Given the description of an element on the screen output the (x, y) to click on. 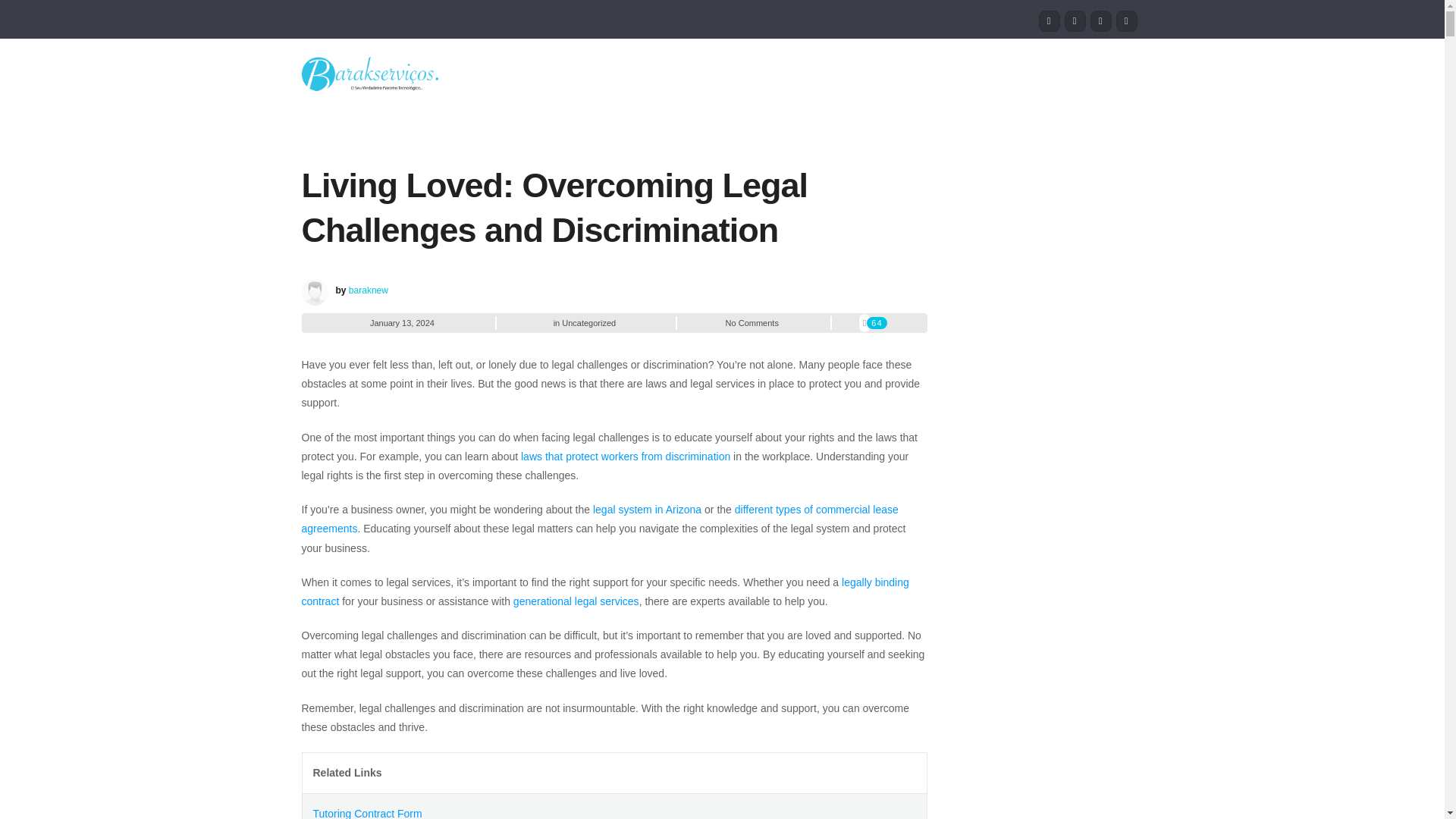
legally binding contract (604, 591)
different types of commercial lease agreements (599, 518)
generational legal services (576, 601)
legal system in Arizona (646, 509)
baraknew (368, 290)
Tutoring Contract Form (367, 813)
laws that protect workers from discrimination (625, 456)
Posts by baraknew (368, 290)
Uncategorized (588, 323)
